Given the description of an element on the screen output the (x, y) to click on. 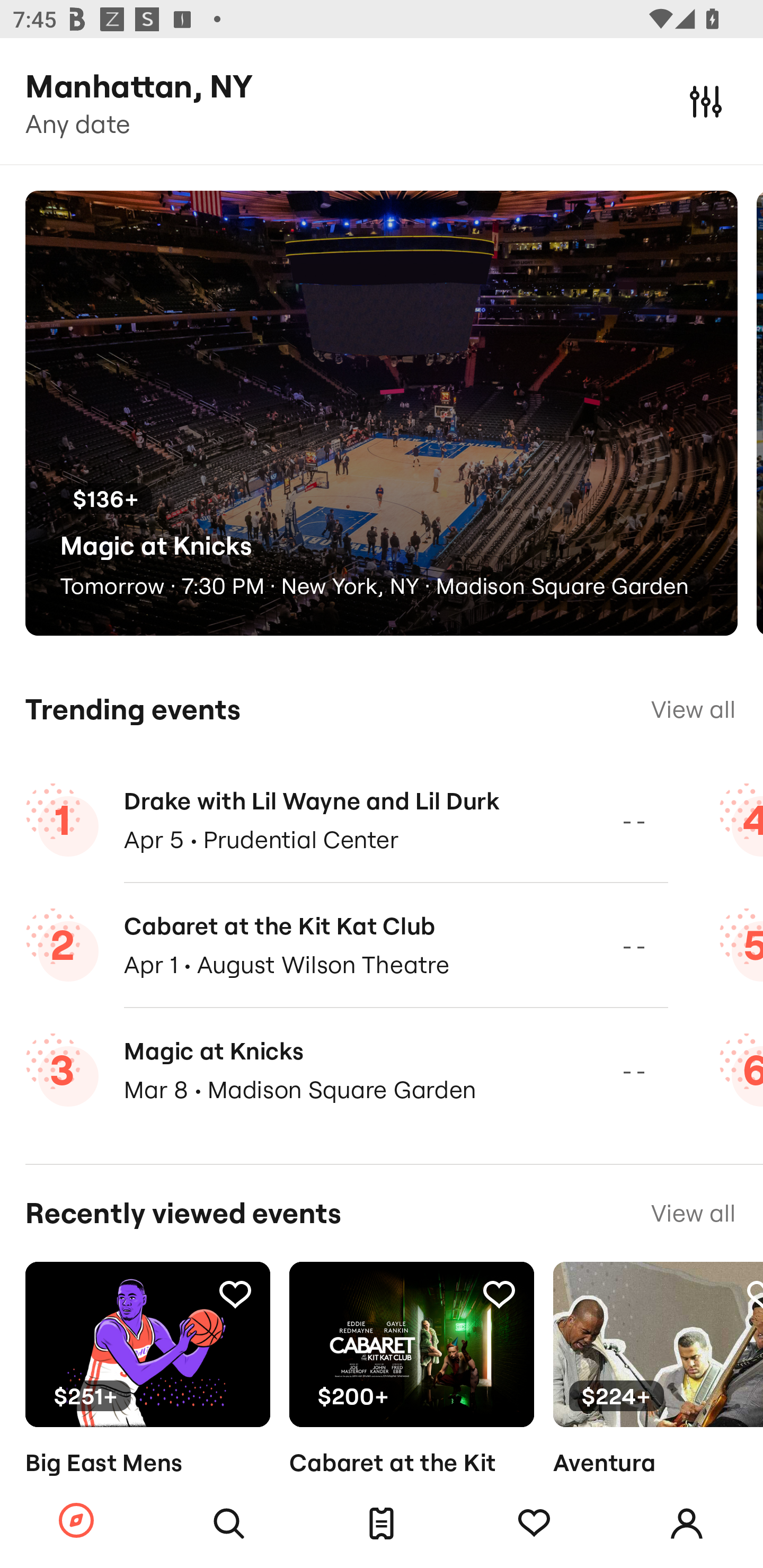
Close (705, 100)
View all (693, 709)
View all (693, 1213)
Tracking $224+ Aventura Thu, May 30, 8 PM (658, 1399)
Tracking (234, 1293)
Tracking (498, 1293)
Tracking (753, 1293)
Browse (76, 1521)
Search (228, 1523)
Tickets (381, 1523)
Tracking (533, 1523)
Account (686, 1523)
